Given the description of an element on the screen output the (x, y) to click on. 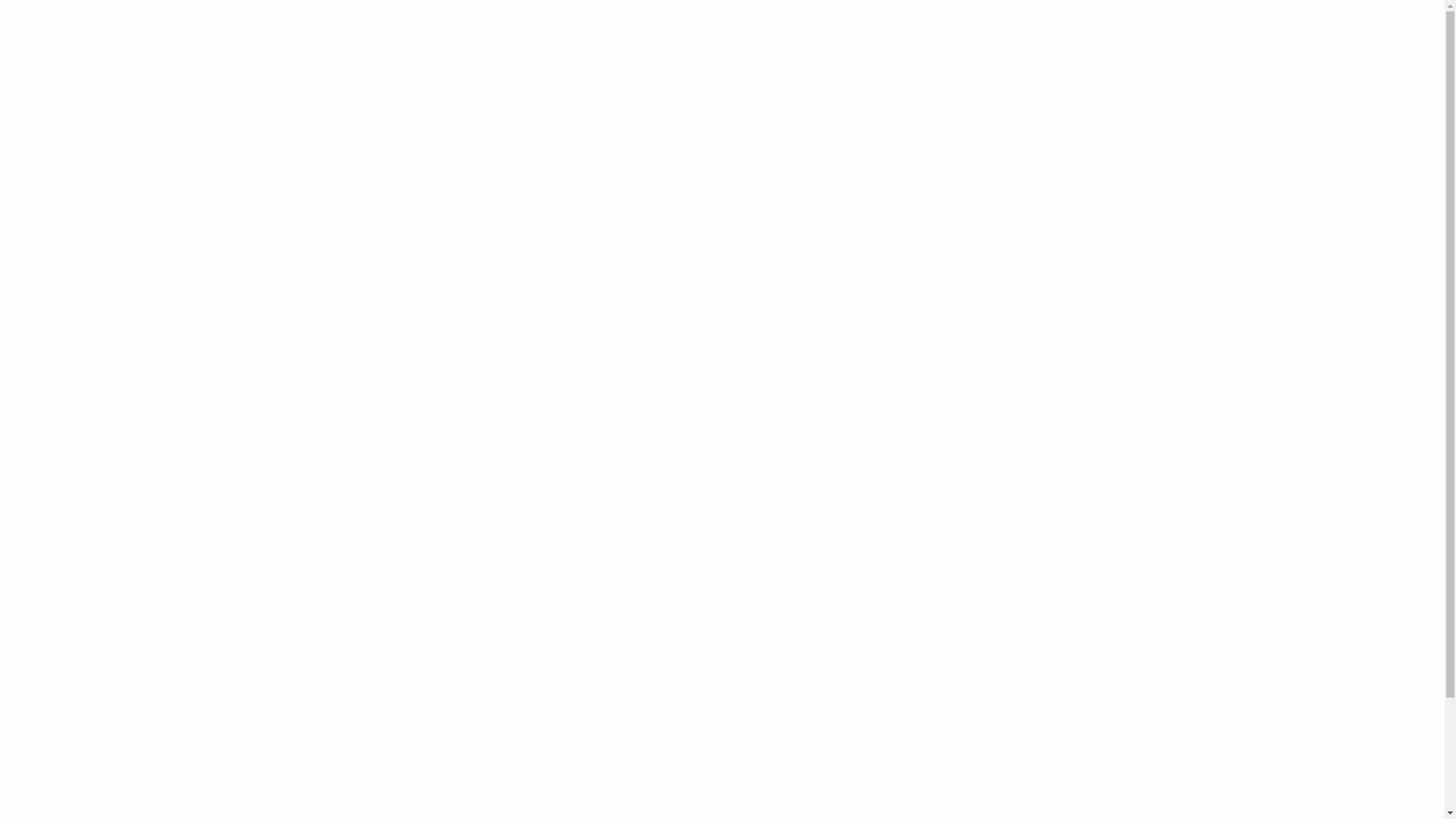
Kontakt Element type: text (49, 272)
U9 Element type: text (67, 258)
Teams Element type: text (46, 203)
BSG Vorderland Element type: text (147, 51)
MU15 Element type: text (76, 216)
Statuten Element type: text (80, 300)
U11 Element type: text (70, 244)
Willkommen Element type: text (62, 91)
Vorstand Element type: text (81, 119)
MU13 Element type: text (76, 231)
Turnhalle Wies Element type: text (97, 147)
Beitreten Element type: text (52, 314)
Geschichte Element type: text (87, 133)
Bankverbindung Element type: text (100, 286)
Verein Element type: text (46, 105)
Sponsoren Element type: text (86, 161)
